Given the description of an element on the screen output the (x, y) to click on. 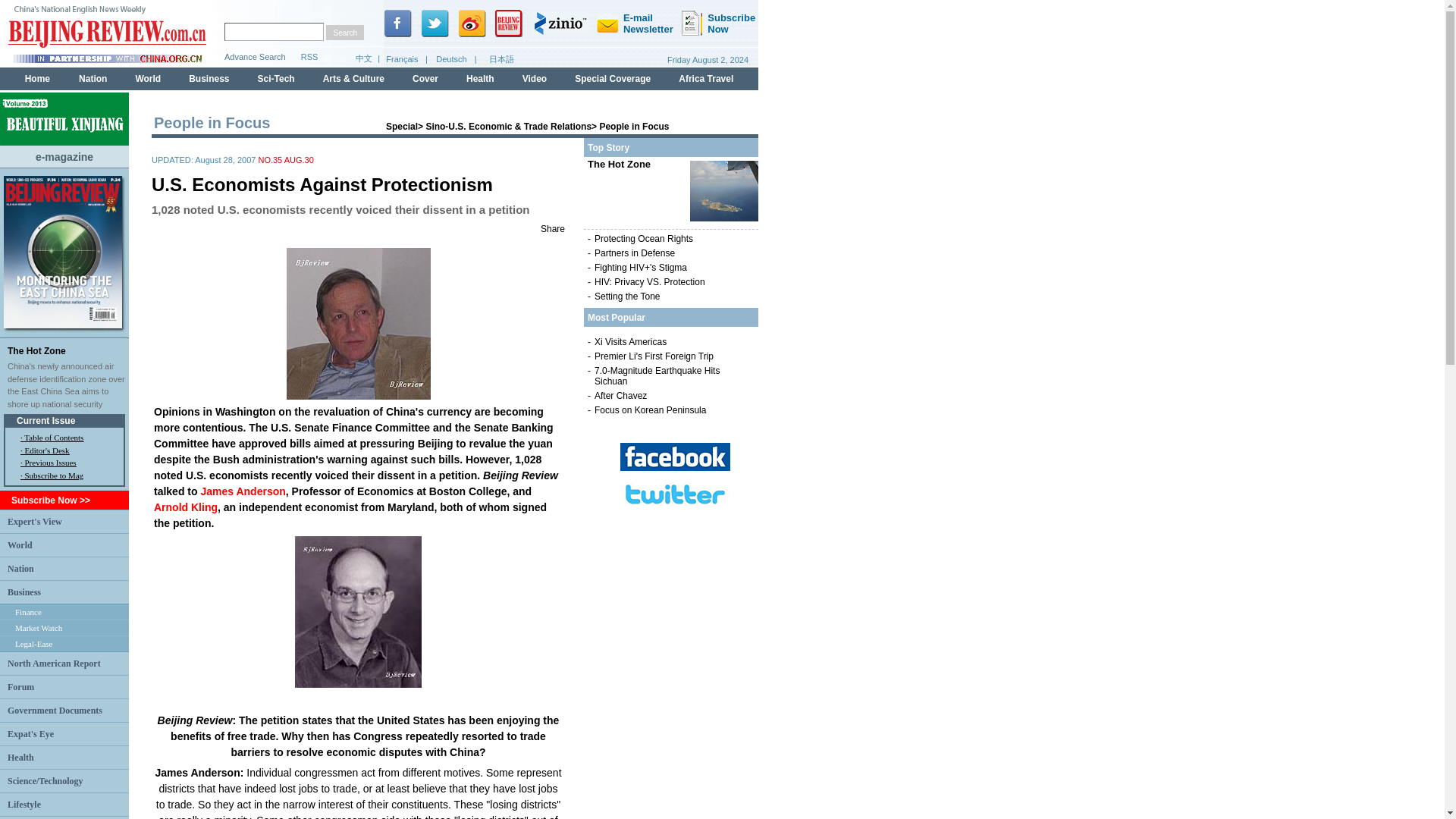
Finance (28, 611)
World (19, 544)
The Hot Zone (36, 350)
Nation (20, 567)
Expat's Eye (30, 733)
Forum (20, 685)
Market Watch (38, 627)
Expert's View (34, 520)
Government Documents (54, 710)
